Given the description of an element on the screen output the (x, y) to click on. 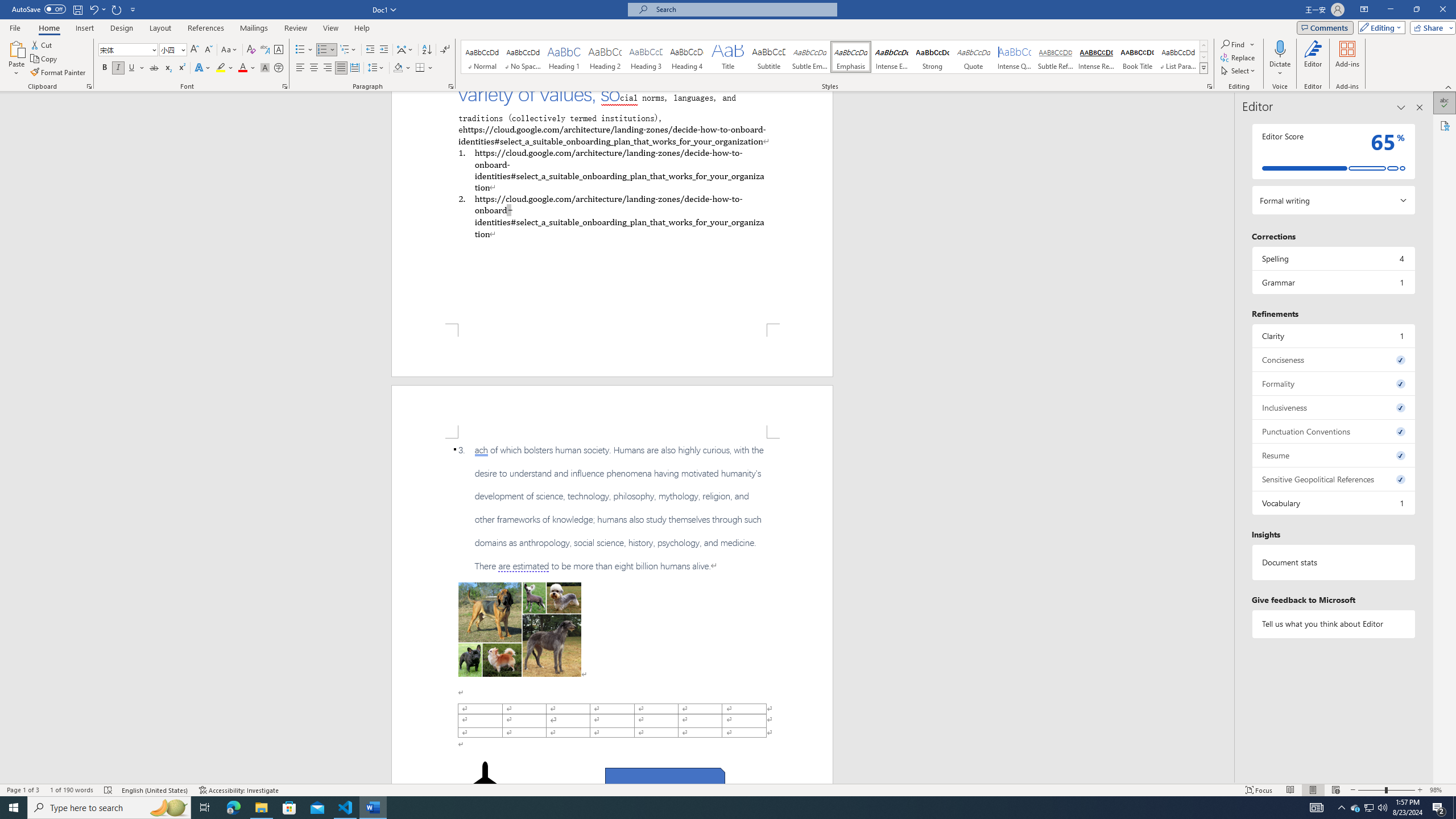
Document statistics (1333, 561)
Heading 2 (605, 56)
Clarity, 1 issue. Press space or enter to review items. (1333, 335)
Tell us what you think about Editor (1333, 624)
Vocabulary, 1 issue. Press space or enter to review items. (1333, 502)
